Given the description of an element on the screen output the (x, y) to click on. 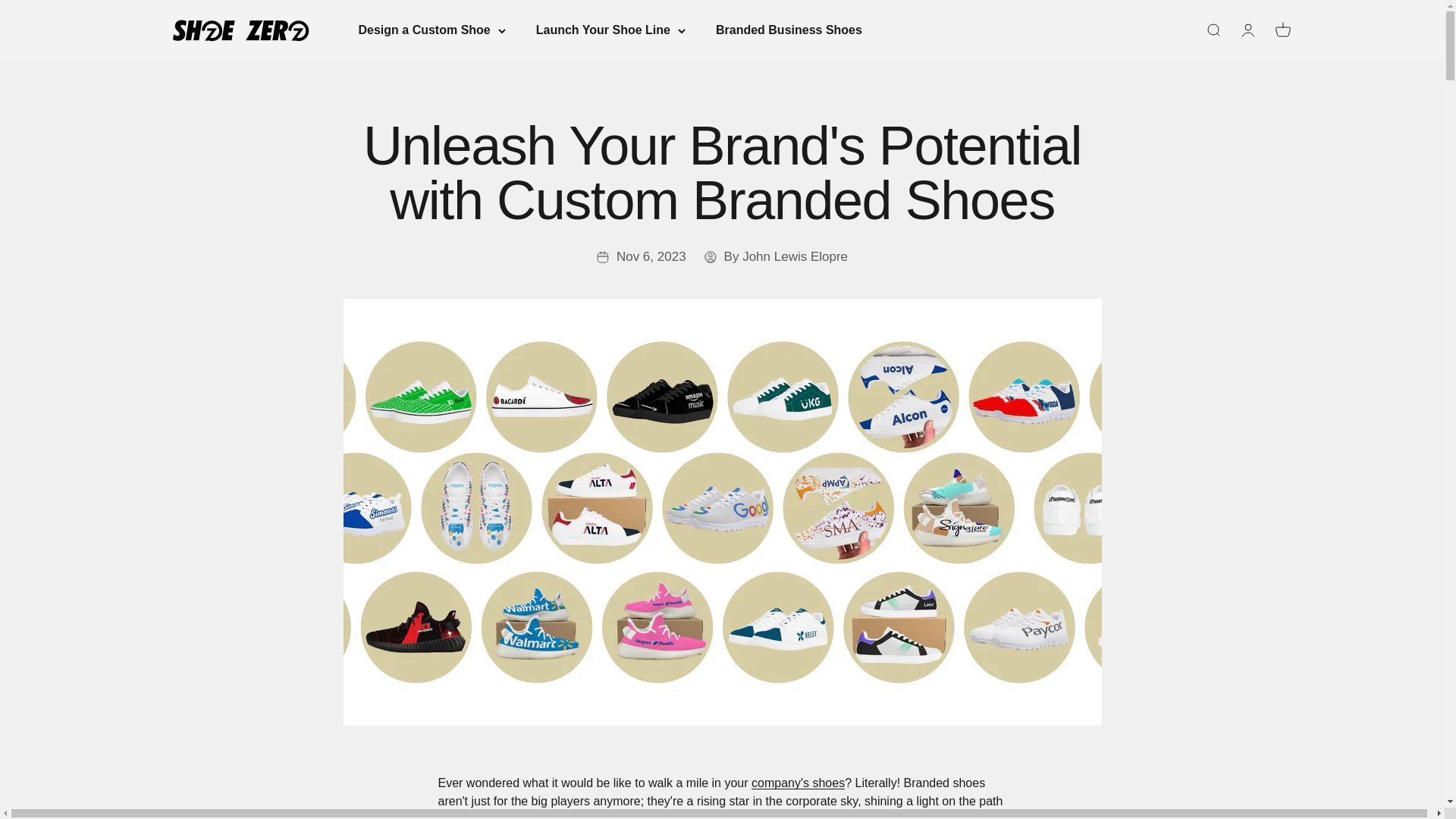
custom kicks (767, 816)
Branded Business Shoes (788, 29)
branded shoes (797, 782)
company's shoes (797, 782)
Open search (1212, 30)
Open account page (1247, 30)
Open cart (1282, 30)
Shoe Zero (239, 30)
